Given the description of an element on the screen output the (x, y) to click on. 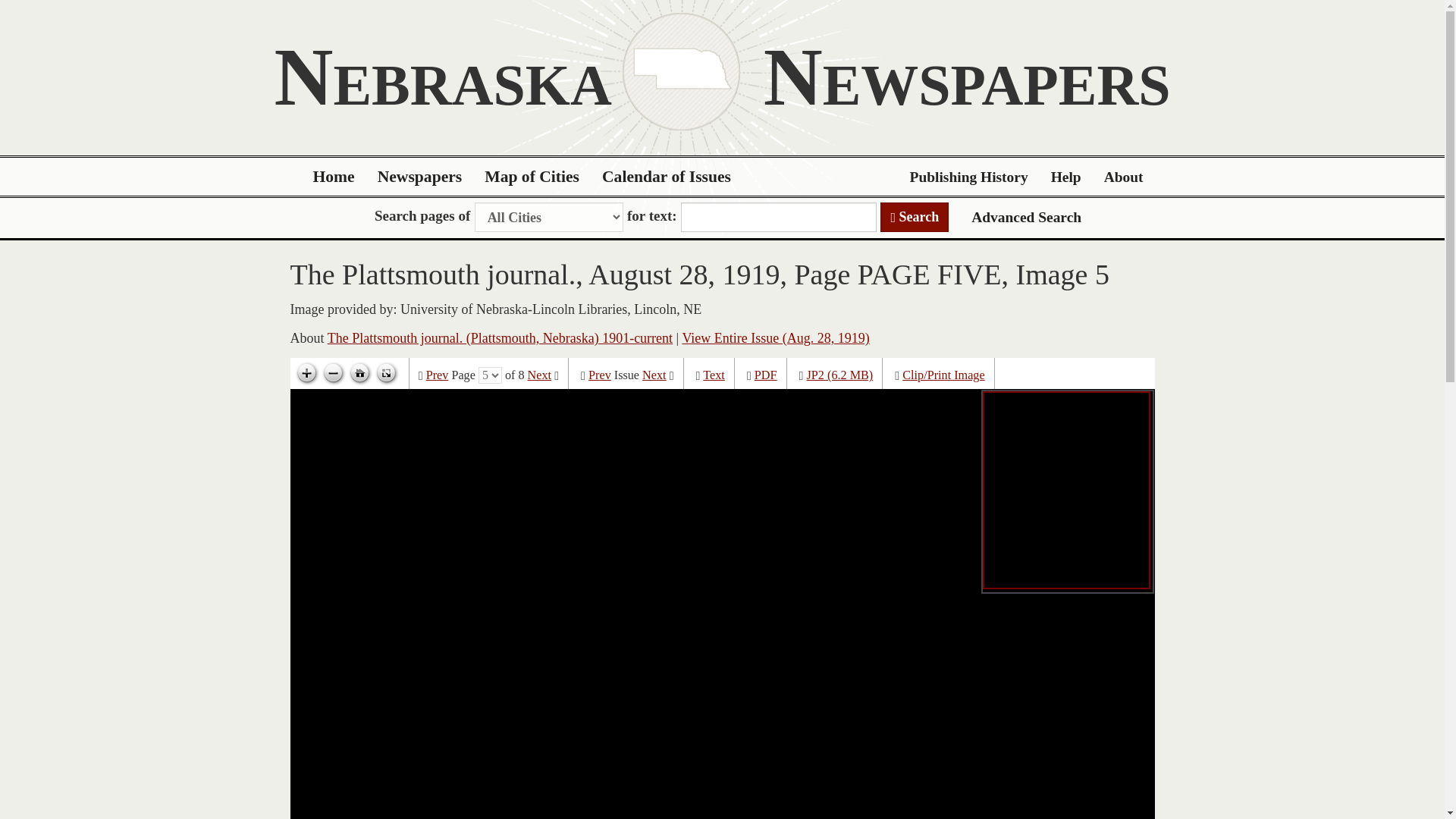
Calendar of Issues (666, 176)
Publishing History (968, 176)
Next (539, 375)
Prev (599, 375)
About (1123, 176)
Text (714, 375)
Prev (437, 375)
Newspapers (420, 176)
Help (1066, 176)
Advanced Search (1026, 216)
